Given the description of an element on the screen output the (x, y) to click on. 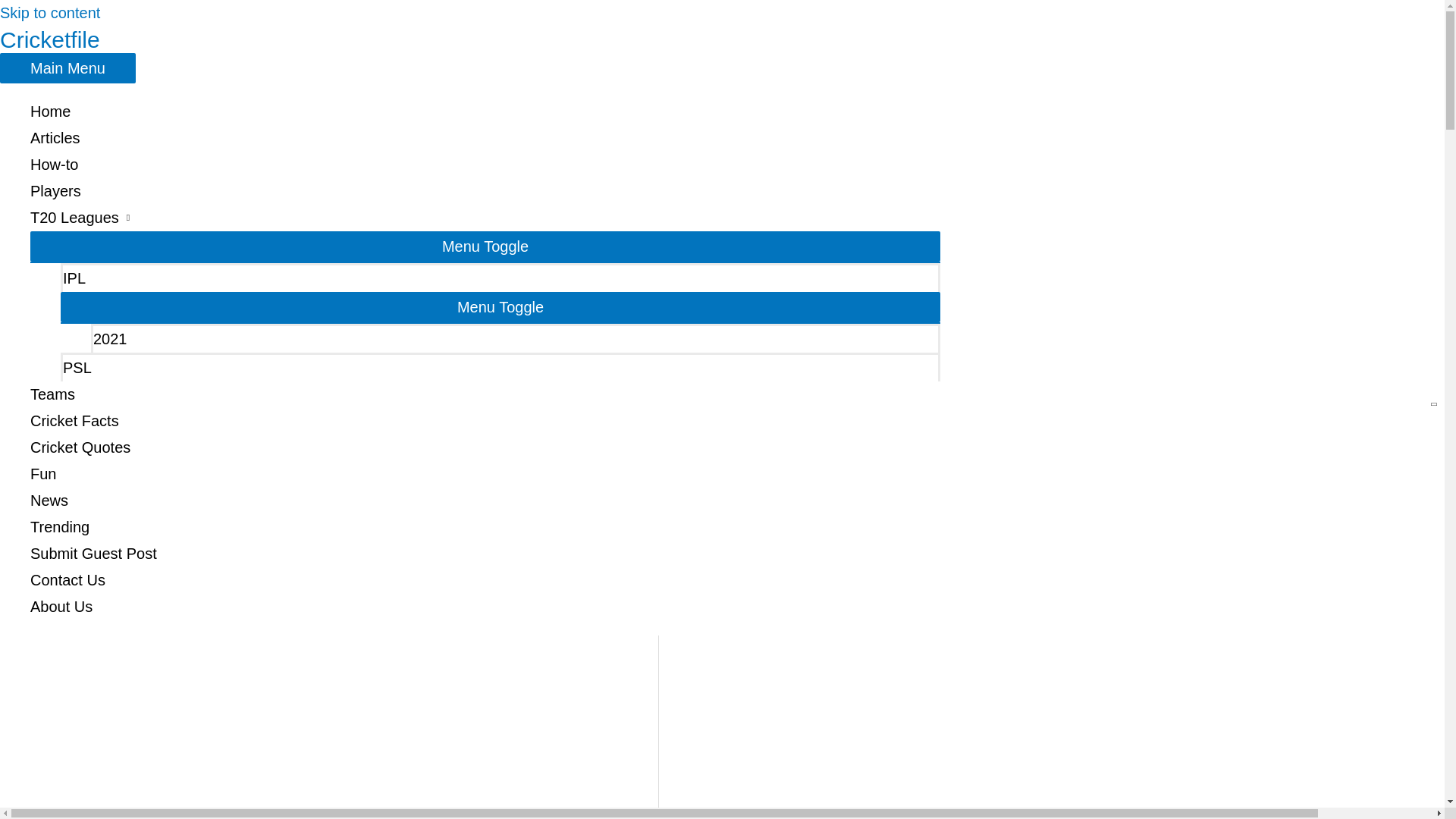
IPL (500, 276)
Teams (485, 394)
Menu Toggle (500, 306)
Contact Us (485, 580)
PSL (500, 366)
News (485, 500)
Skip to content (50, 12)
Cricket Quotes (485, 447)
Submit Guest Post (485, 553)
Players (485, 191)
Main Menu (67, 68)
About Us (485, 606)
Trending (485, 527)
2021 (515, 337)
Cricketfile (50, 39)
